Given the description of an element on the screen output the (x, y) to click on. 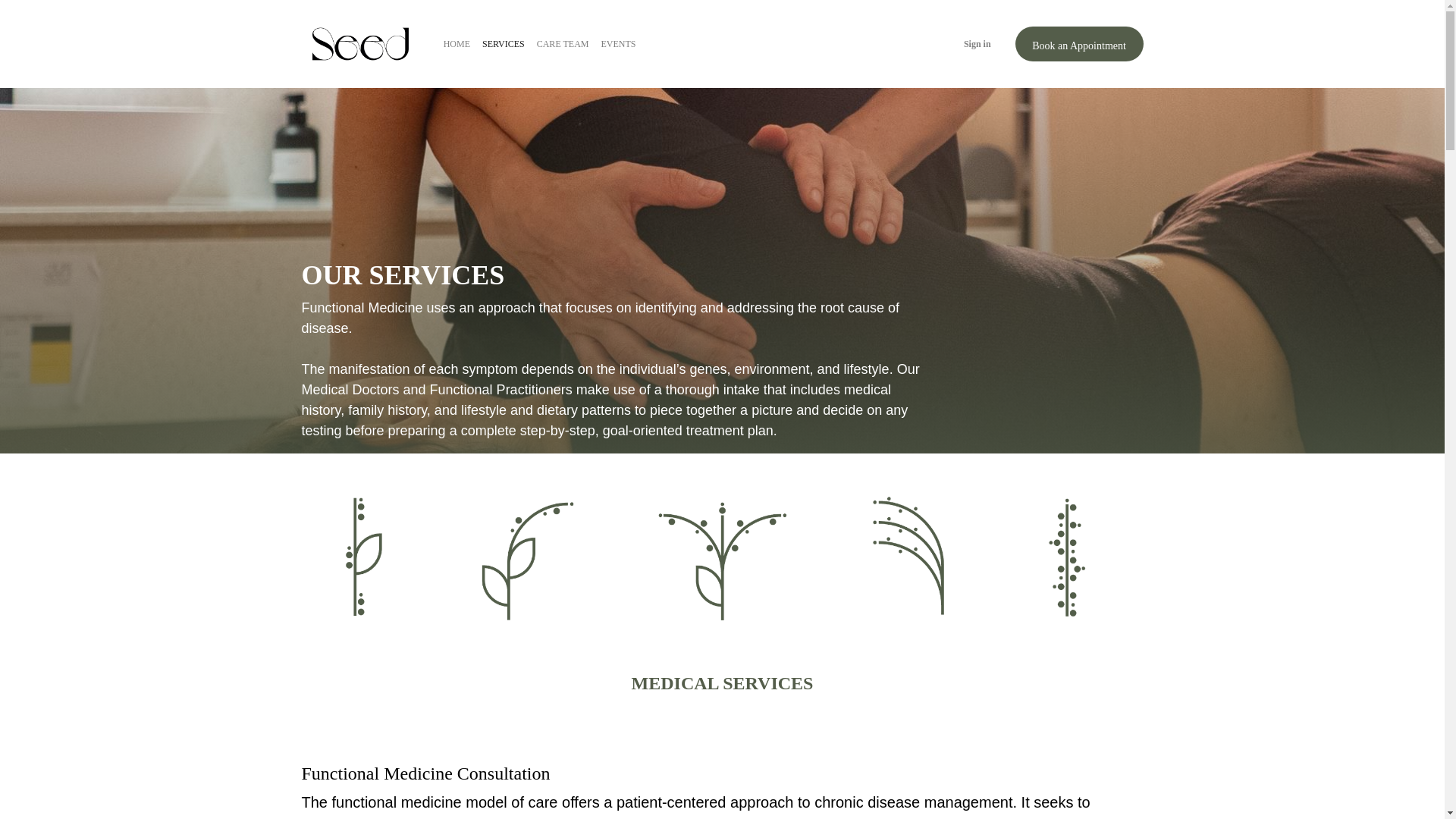
SERVICES (503, 43)
EVENTS (618, 43)
Book an Appointment (1078, 43)
Sign in (977, 43)
HOME (457, 43)
CARE TEAM (563, 43)
Seed Health and Wellness Center (360, 43)
